Given the description of an element on the screen output the (x, y) to click on. 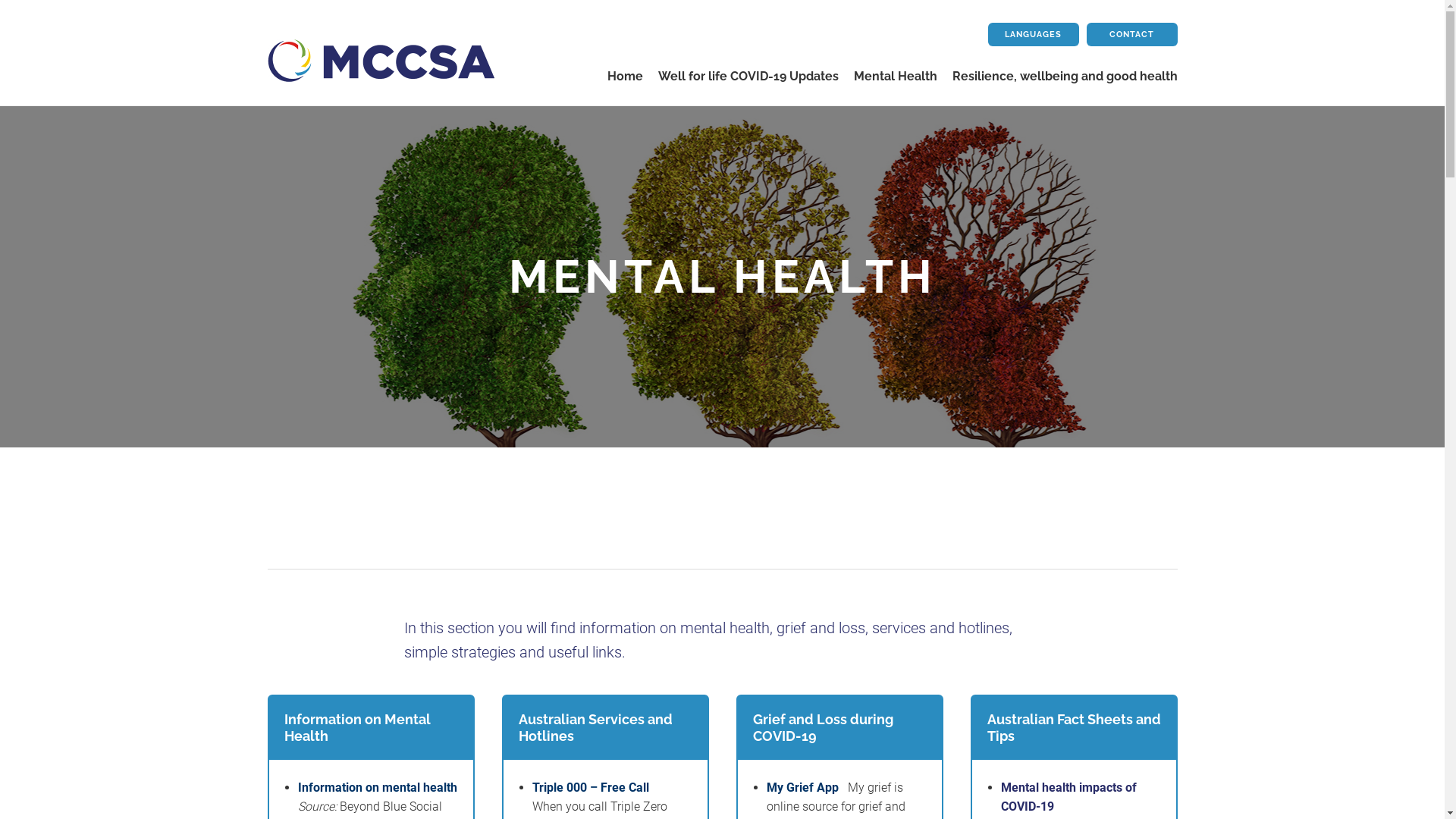
Mental Health Element type: text (895, 76)
My Grief App   Element type: text (806, 787)
Information on mental health Element type: text (376, 787)
CONTACT Element type: text (1130, 34)
Home Element type: text (624, 76)
Mental health impacts of COVID-19 Element type: text (1068, 797)
LANGUAGES Element type: text (1032, 34)
Well for life COVID-19 Updates Element type: text (748, 76)
Resilience, wellbeing and good health Element type: text (1064, 76)
